Given the description of an element on the screen output the (x, y) to click on. 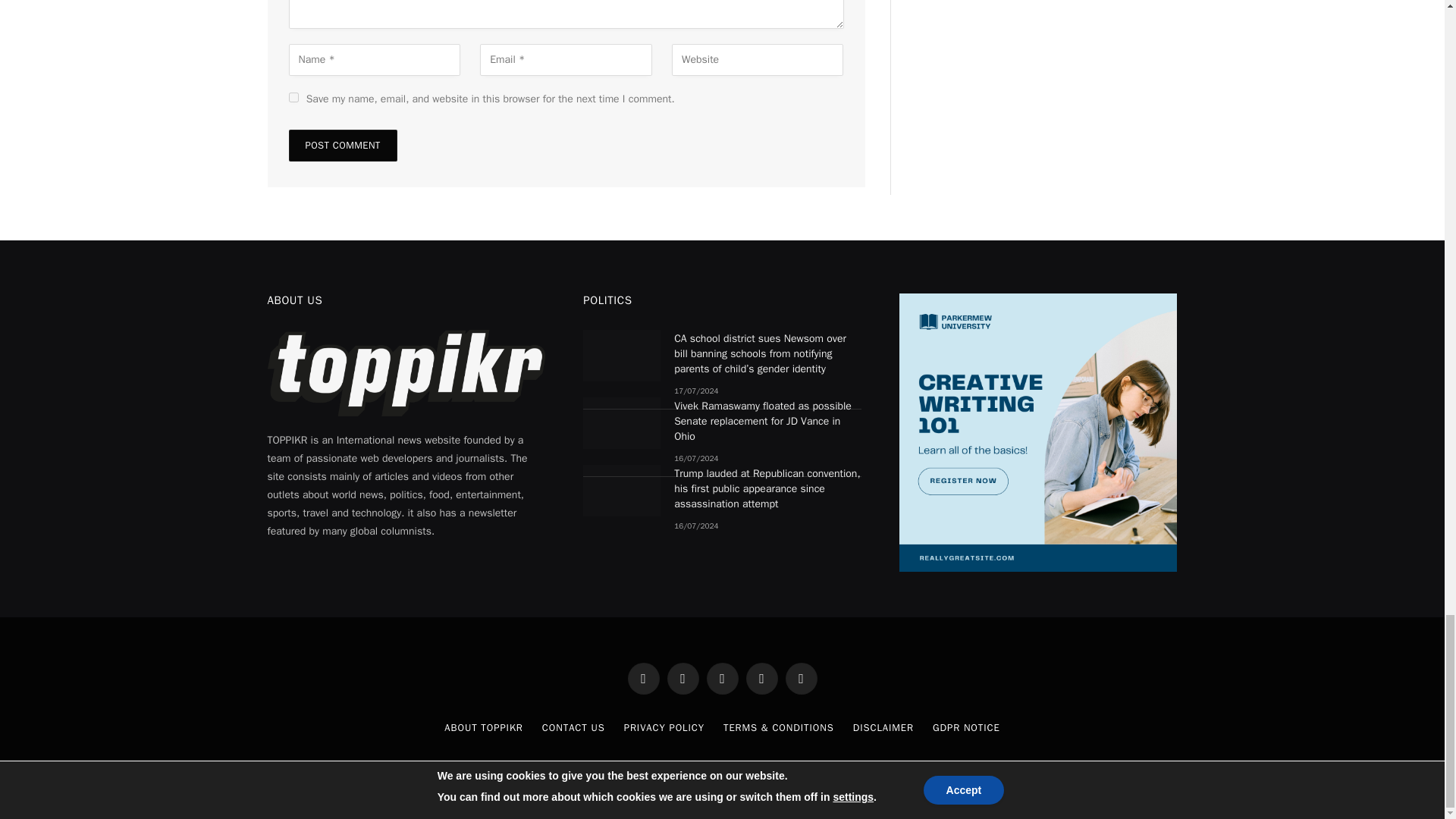
Post Comment (342, 145)
yes (293, 97)
